Given the description of an element on the screen output the (x, y) to click on. 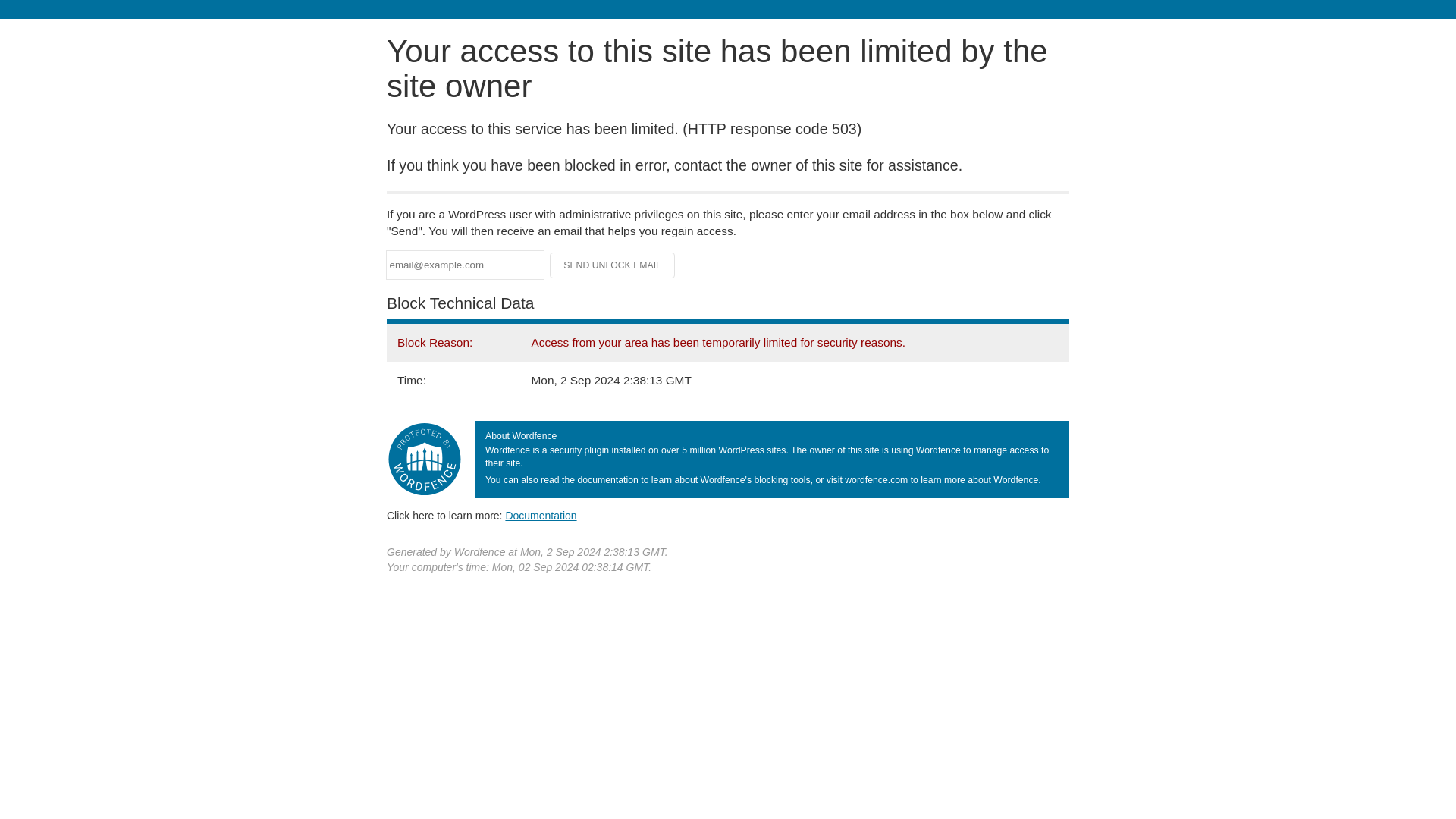
Send Unlock Email (612, 265)
Documentation (540, 515)
Send Unlock Email (612, 265)
